Given the description of an element on the screen output the (x, y) to click on. 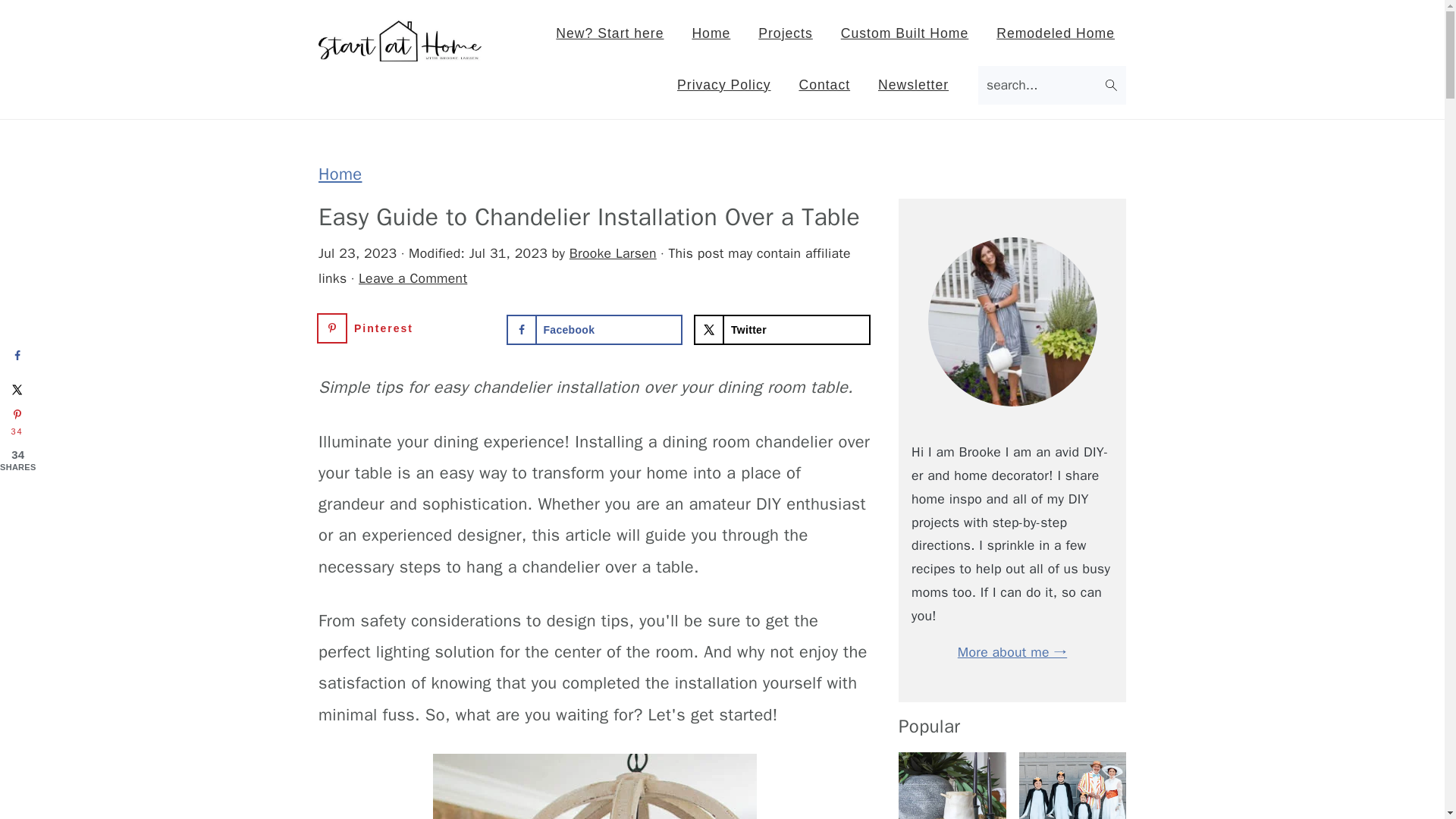
Contact (824, 85)
Facebook (594, 329)
Home (710, 33)
Share on X (782, 329)
Projects (785, 33)
Privacy Policy (724, 85)
New Orb Light and Installation Tips (593, 786)
Save to Pinterest (16, 423)
Share on Facebook (16, 355)
Share on X (16, 389)
Remodeled Home (1055, 33)
Start at Home Decor (399, 50)
Leave a Comment (412, 278)
New? Start here (609, 33)
Share on Facebook (594, 329)
